Given the description of an element on the screen output the (x, y) to click on. 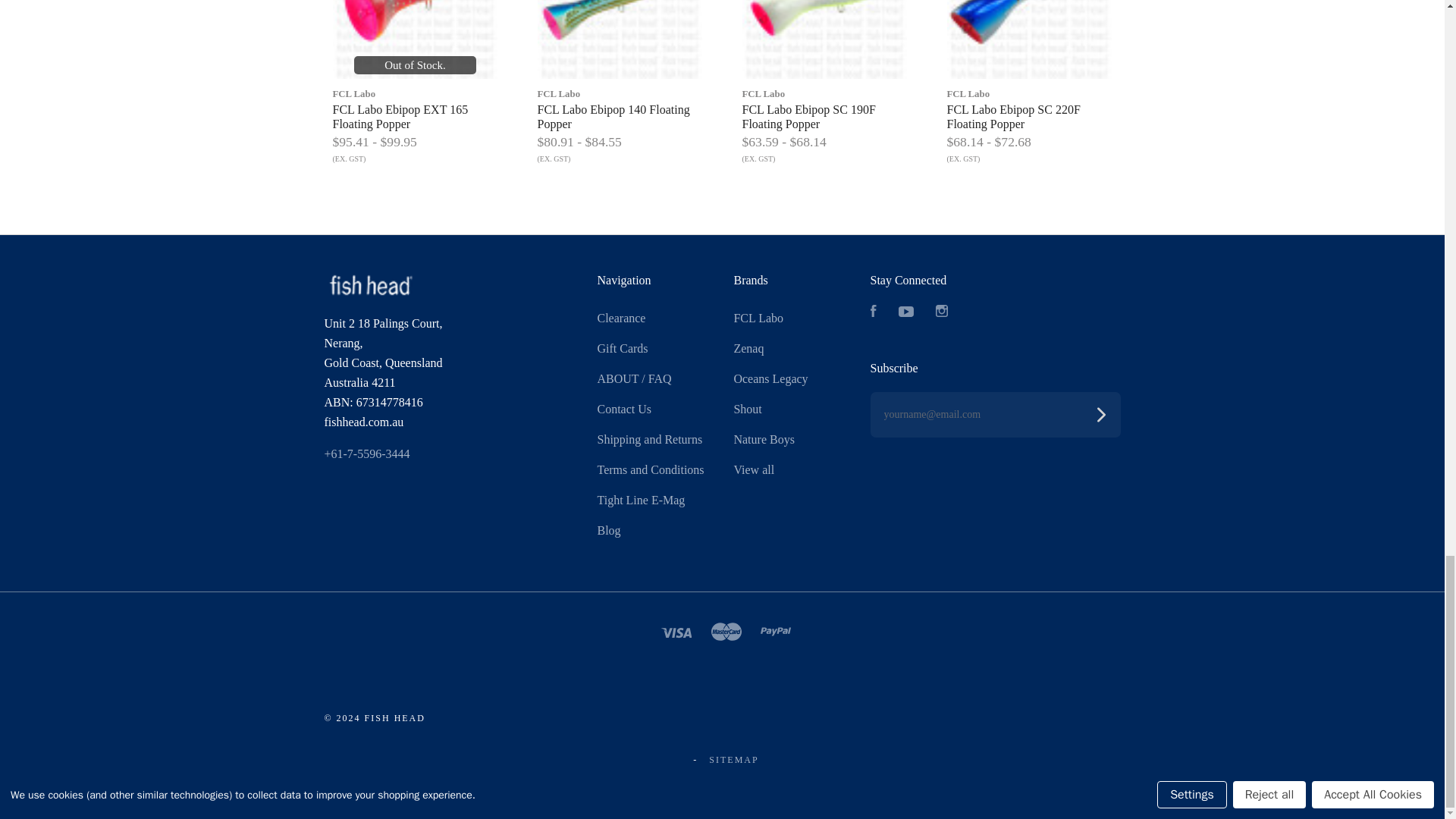
youtube (905, 311)
. (369, 284)
YouTube (905, 312)
FCL Labo Ebipop SC 220F Floating Popper (1029, 39)
FCL Labo Ebipop 140 Floating Popper (619, 39)
FCL Labo Ebipop SC 190F Floating Popper (824, 39)
FCL Labo Ebipop EXT 165 Floating Popper (414, 39)
instagram (941, 310)
Instagram (941, 312)
